Given the description of an element on the screen output the (x, y) to click on. 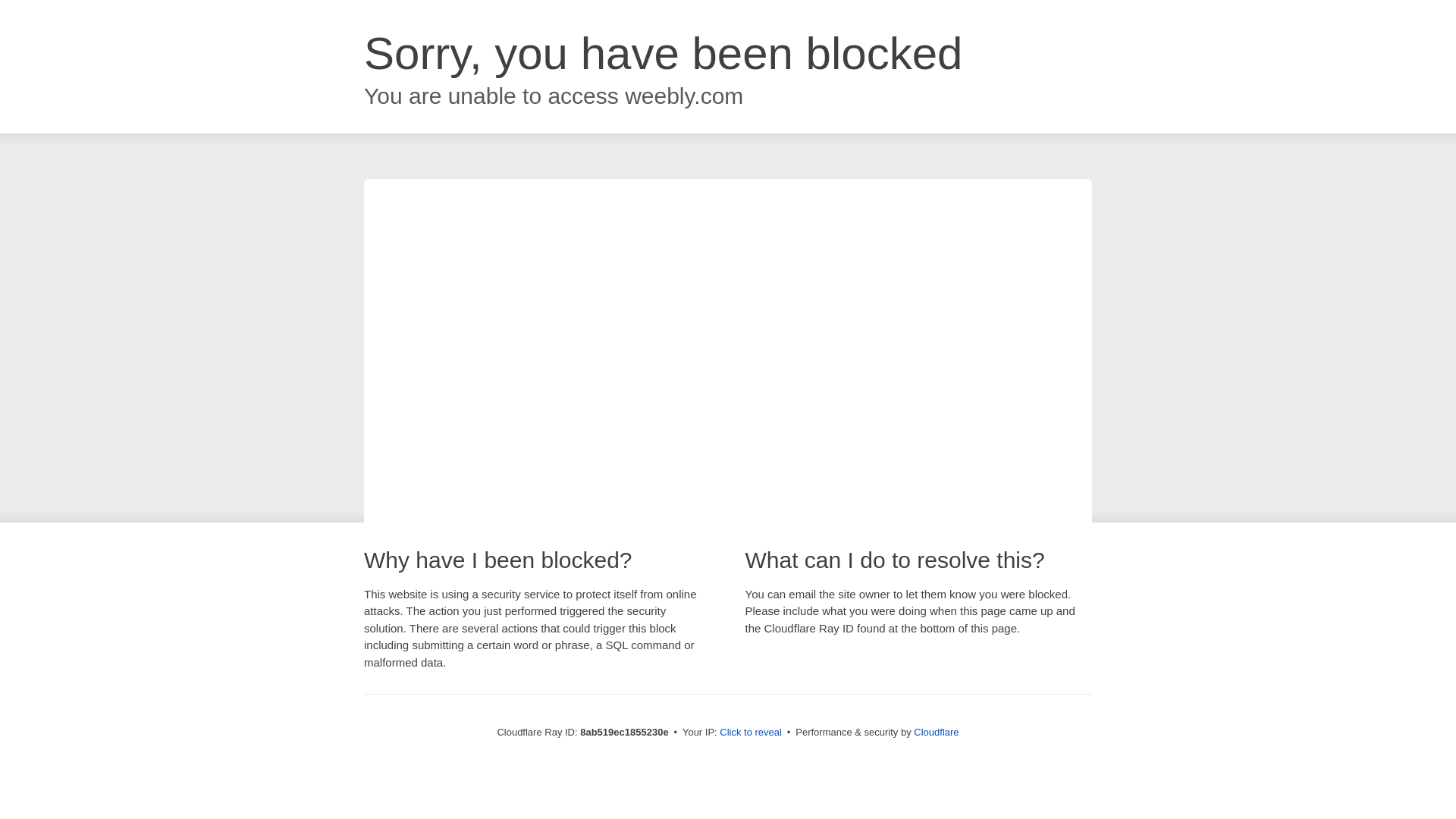
Cloudflare (936, 731)
Click to reveal (750, 732)
